Given the description of an element on the screen output the (x, y) to click on. 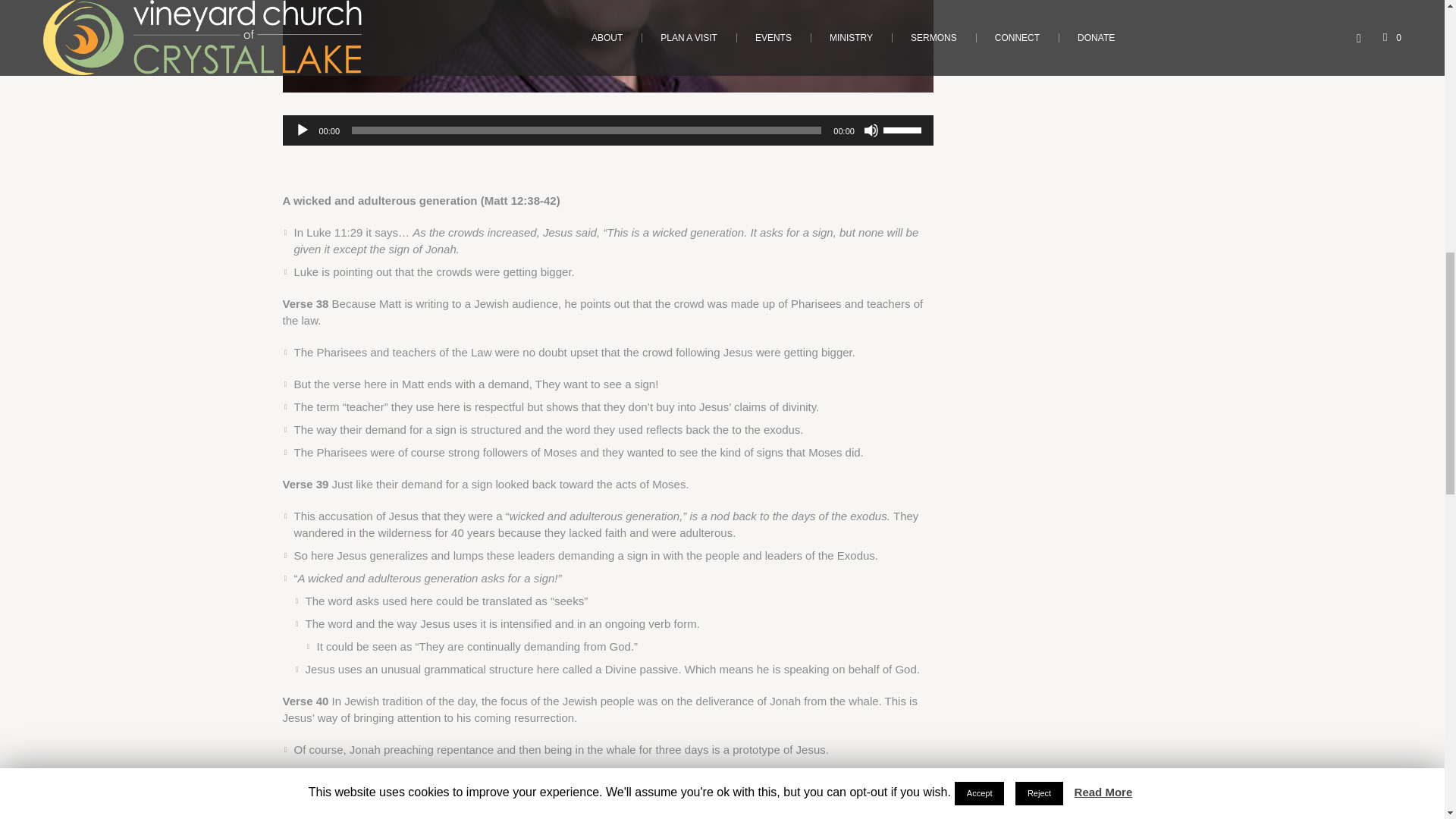
Mute (871, 130)
A wicked and adulterous generation (607, 46)
Play (301, 130)
